Given the description of an element on the screen output the (x, y) to click on. 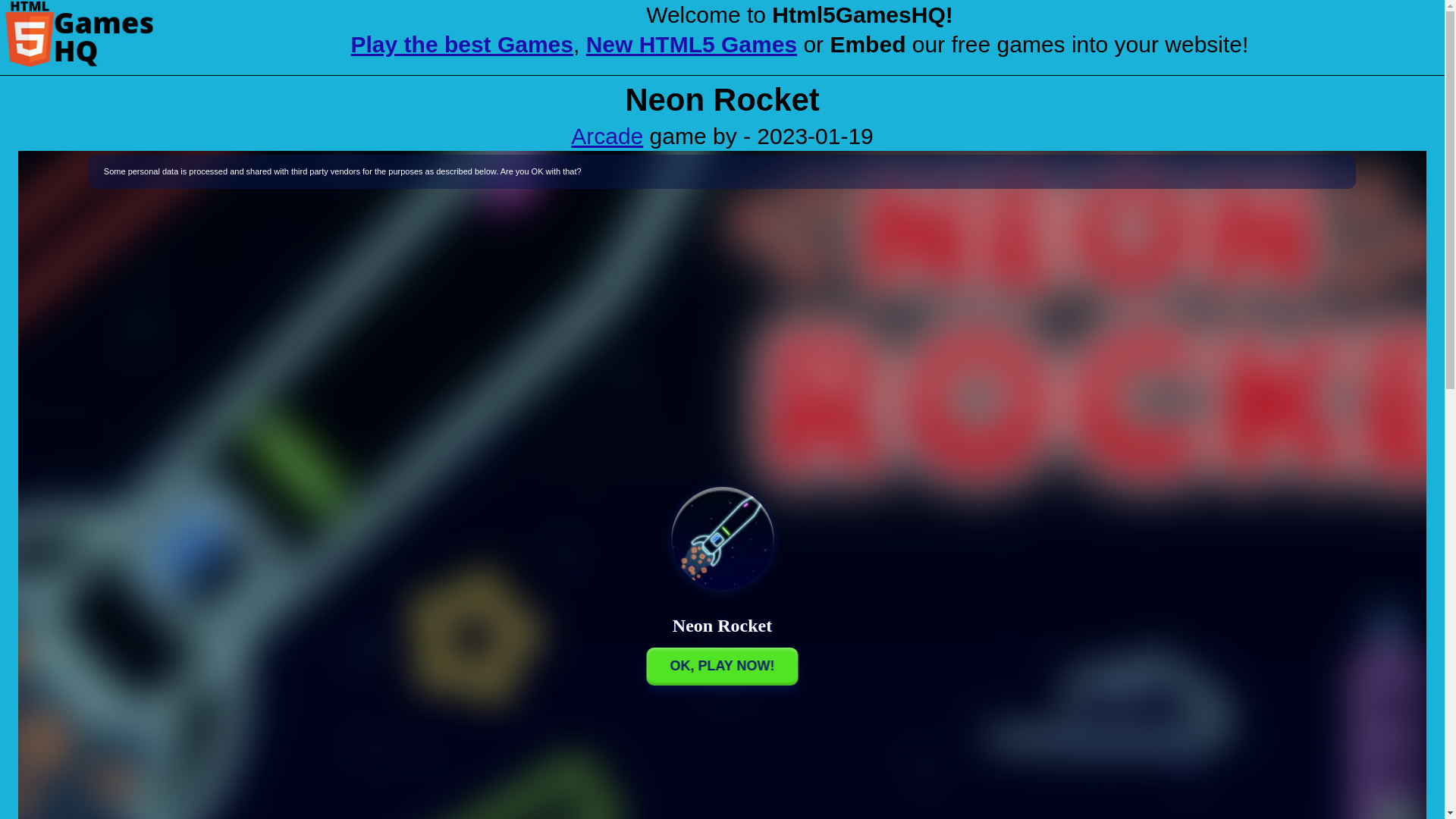
Html5 Game Index (79, 33)
Arcade (606, 135)
New HTML5 Games (691, 43)
Play the best Games (461, 43)
